Given the description of an element on the screen output the (x, y) to click on. 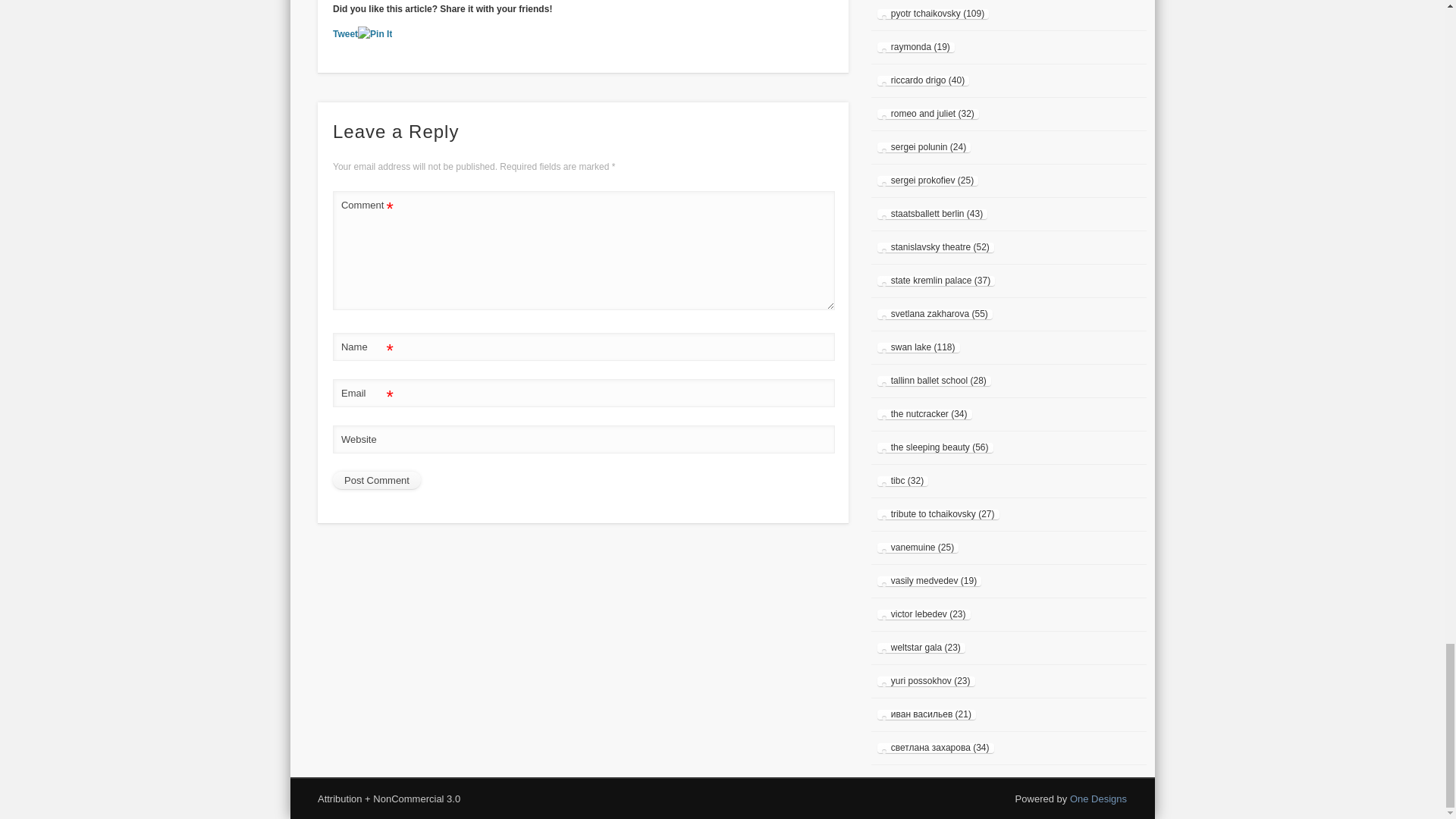
Post Comment (376, 480)
Post Comment (376, 480)
Pin It (374, 34)
Tweet (345, 33)
